Given the description of an element on the screen output the (x, y) to click on. 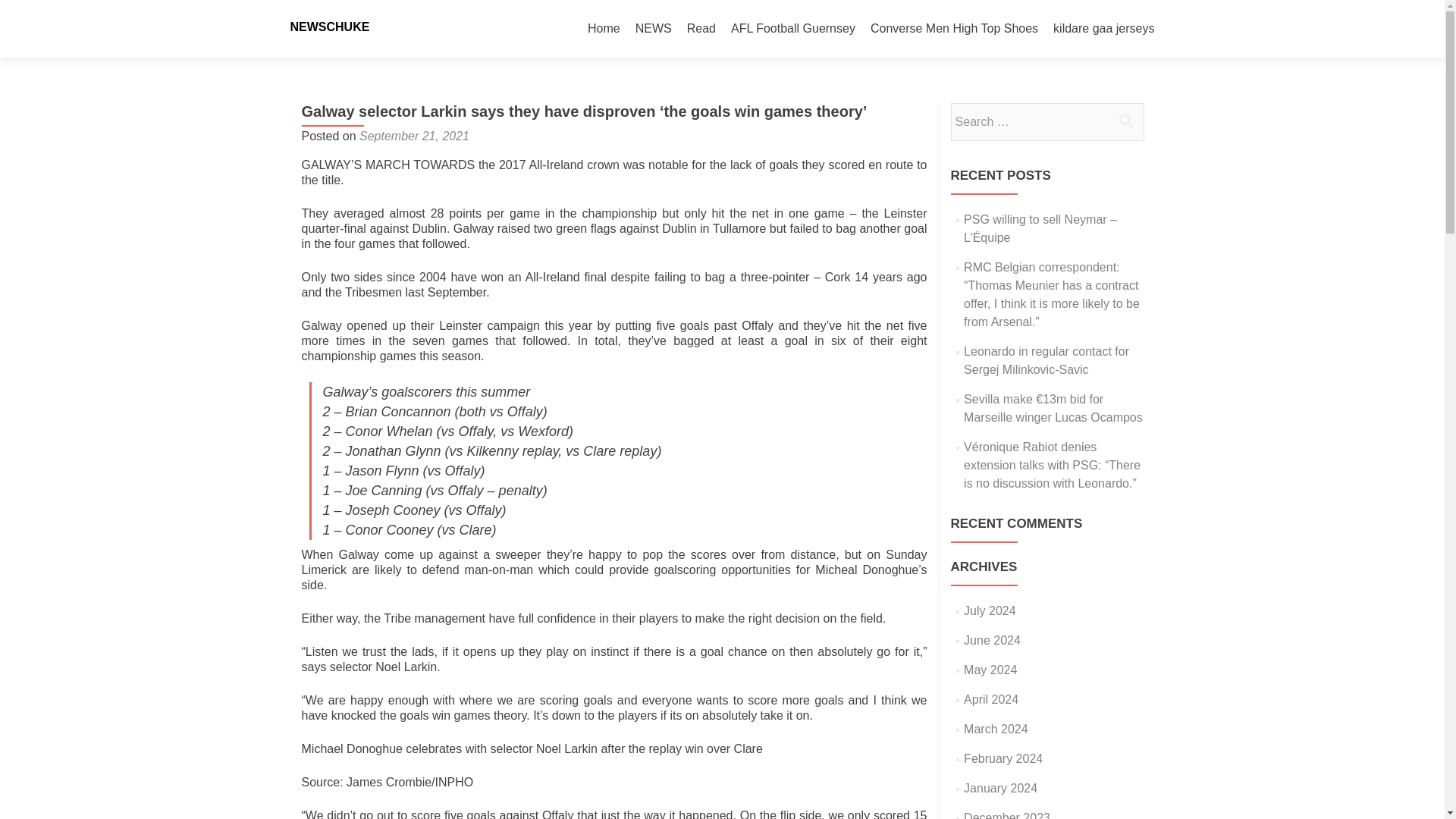
May 2024 (989, 669)
March 2024 (995, 728)
Home (604, 28)
January 2024 (999, 788)
Search (1125, 120)
June 2024 (991, 640)
April 2024 (990, 698)
February 2024 (1002, 758)
Leonardo in regular contact for Sergej Milinkovic-Savic (1046, 359)
kildare gaa jerseys (1103, 28)
September 21, 2021 (413, 135)
December 2023 (1006, 815)
Search (1125, 120)
AFL Football Guernsey (793, 28)
NEWSCHUKE (329, 26)
